Given the description of an element on the screen output the (x, y) to click on. 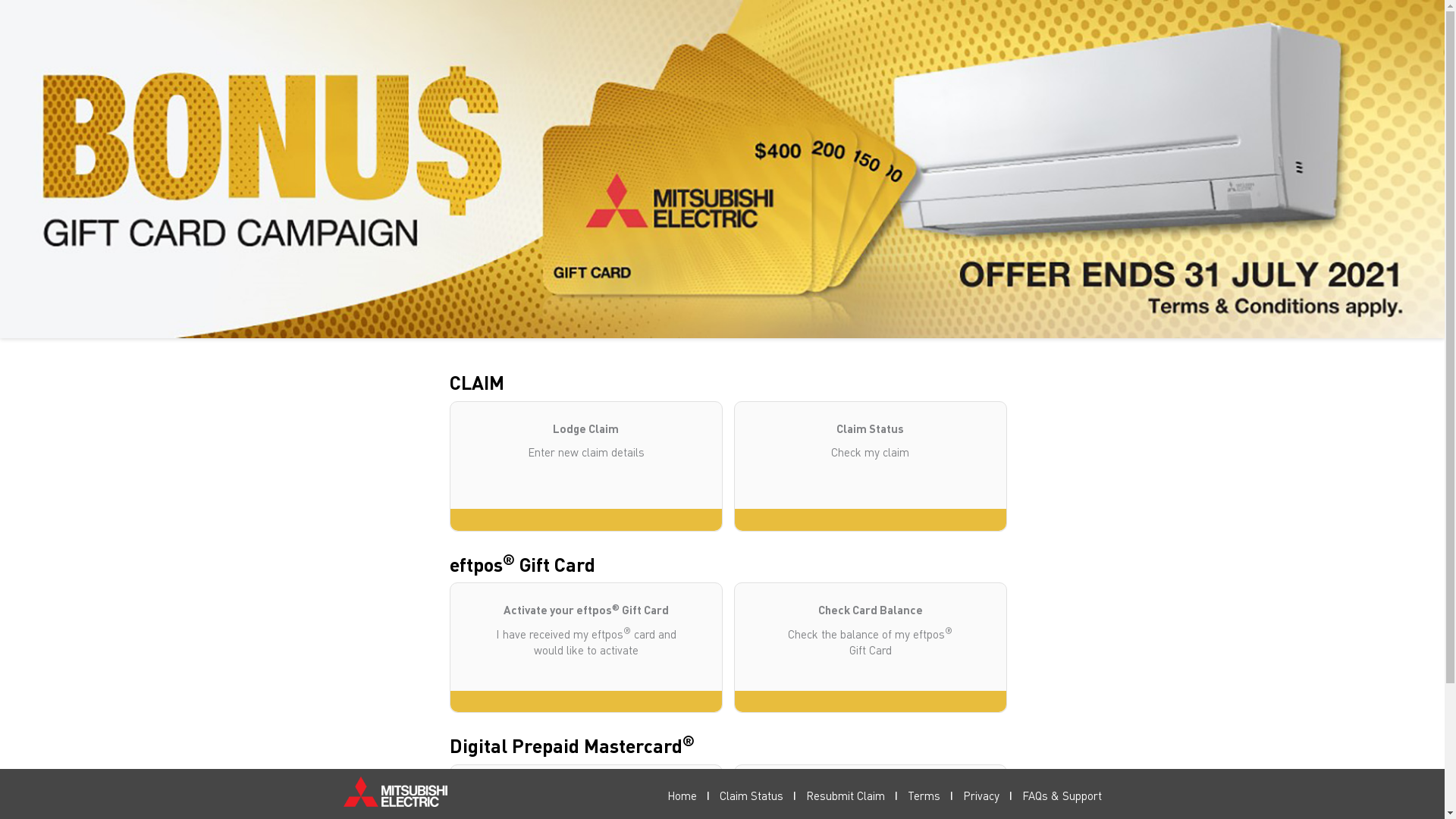
FAQs & Support Element type: text (1061, 795)
Claim Status Element type: text (750, 795)
Resubmit Claim Element type: text (844, 795)
Privacy Element type: text (981, 795)
Home Element type: text (681, 795)
Terms Element type: text (922, 795)
